Given the description of an element on the screen output the (x, y) to click on. 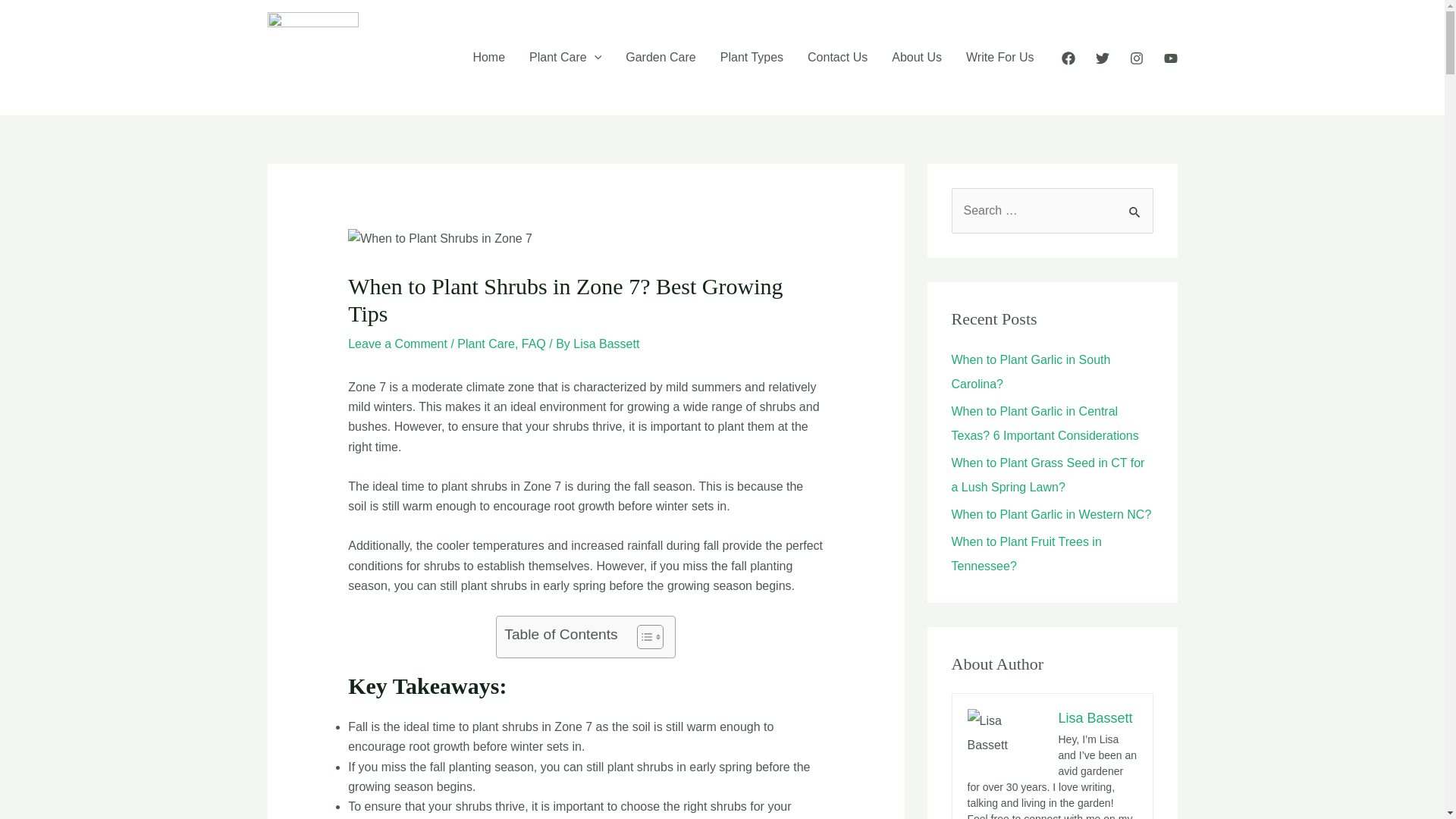
Home (488, 57)
Write For Us (999, 57)
Search (1136, 204)
Plant Care (564, 57)
Plant Care (486, 343)
Search (1136, 204)
Garden Care (659, 57)
View all posts by Lisa Bassett (606, 343)
FAQ (533, 343)
Lisa Bassett (606, 343)
Contact Us (836, 57)
Leave a Comment (396, 343)
Plant Types (750, 57)
About Us (916, 57)
